Given the description of an element on the screen output the (x, y) to click on. 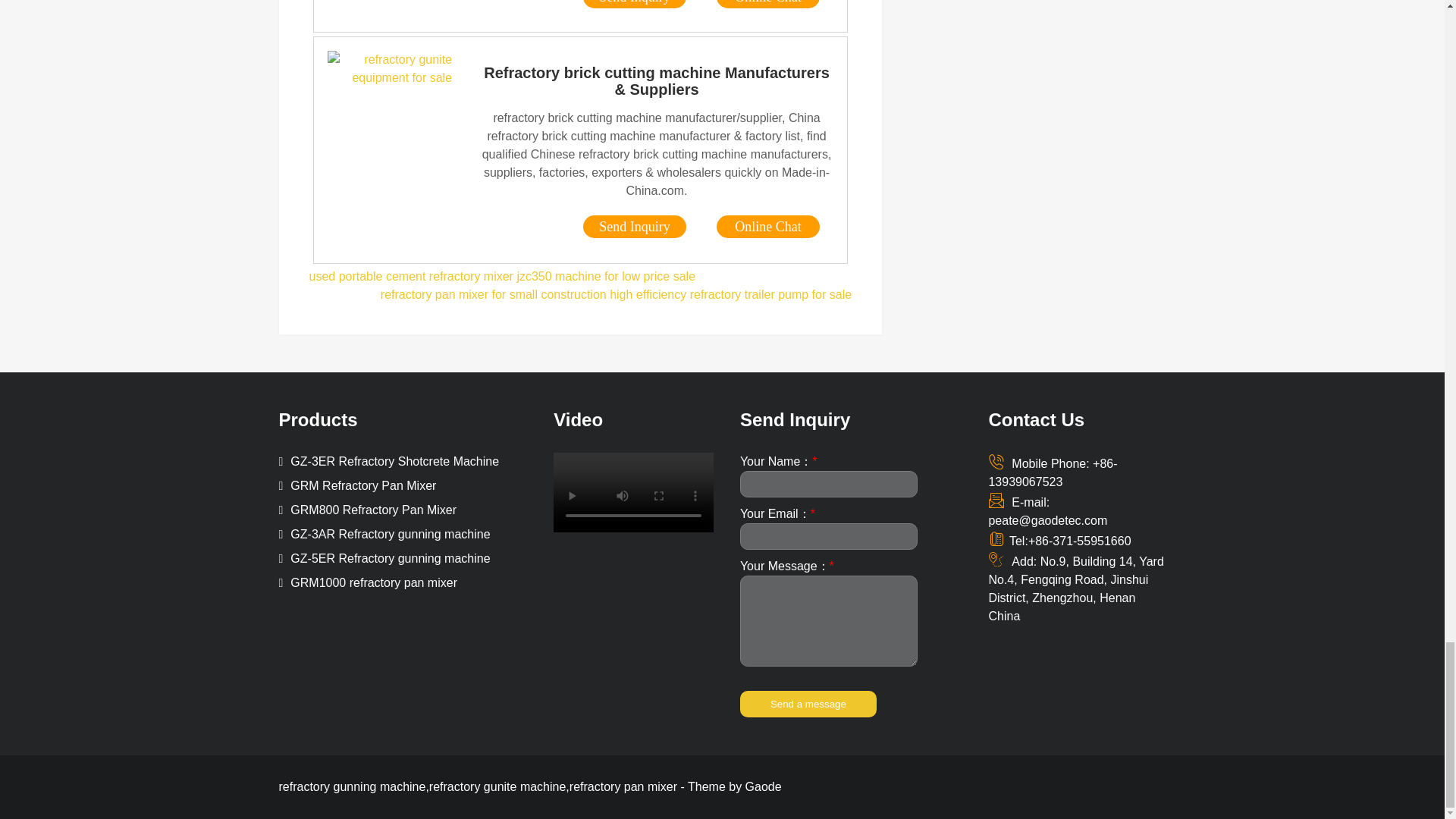
Send a message (807, 704)
